Given the description of an element on the screen output the (x, y) to click on. 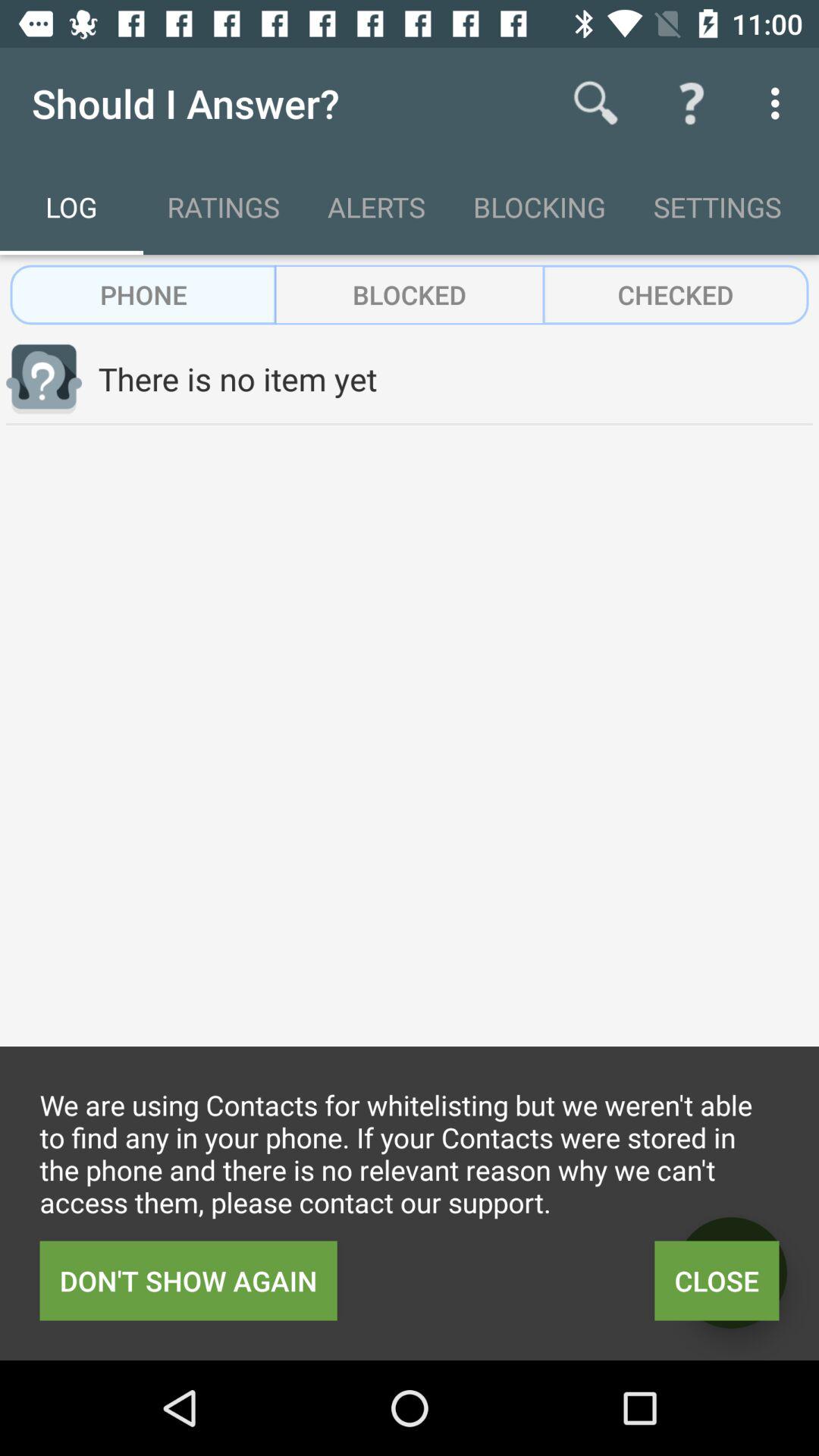
click item to the left of the checked item (409, 294)
